Given the description of an element on the screen output the (x, y) to click on. 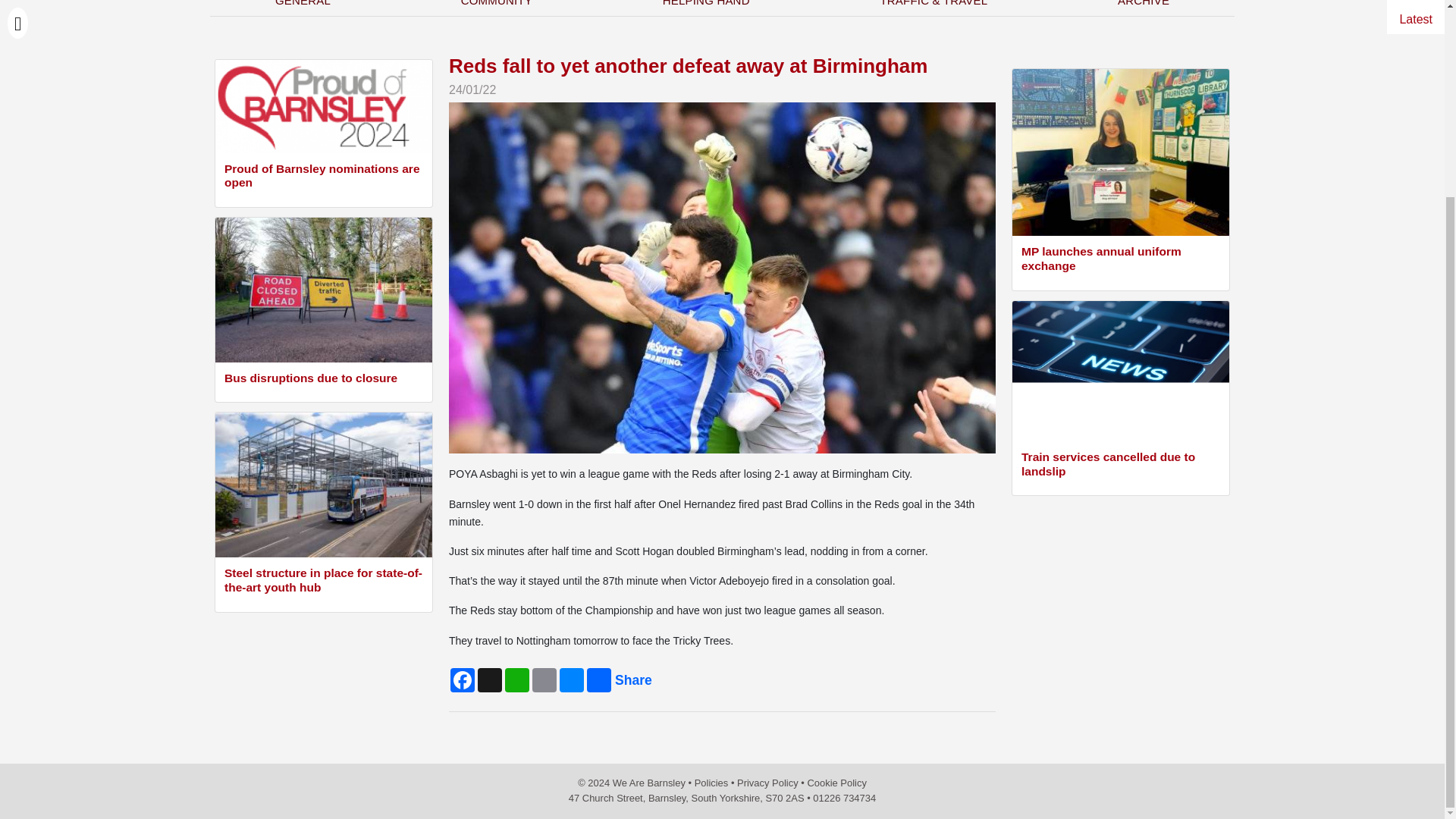
WhatsApp (517, 680)
Messenger (571, 680)
X (489, 680)
Proud of Barnsley nominations are open (323, 177)
GENERAL (302, 7)
Share (598, 680)
Facebook (462, 680)
COMMUNITY (496, 7)
Steel structure in place for state-of-the-art youth hub (323, 581)
MP launches annual uniform exchange (1121, 260)
ARCHIVE (1143, 7)
HELPING HAND (705, 7)
Email (544, 680)
Bus disruptions due to closure (323, 380)
